Given the description of an element on the screen output the (x, y) to click on. 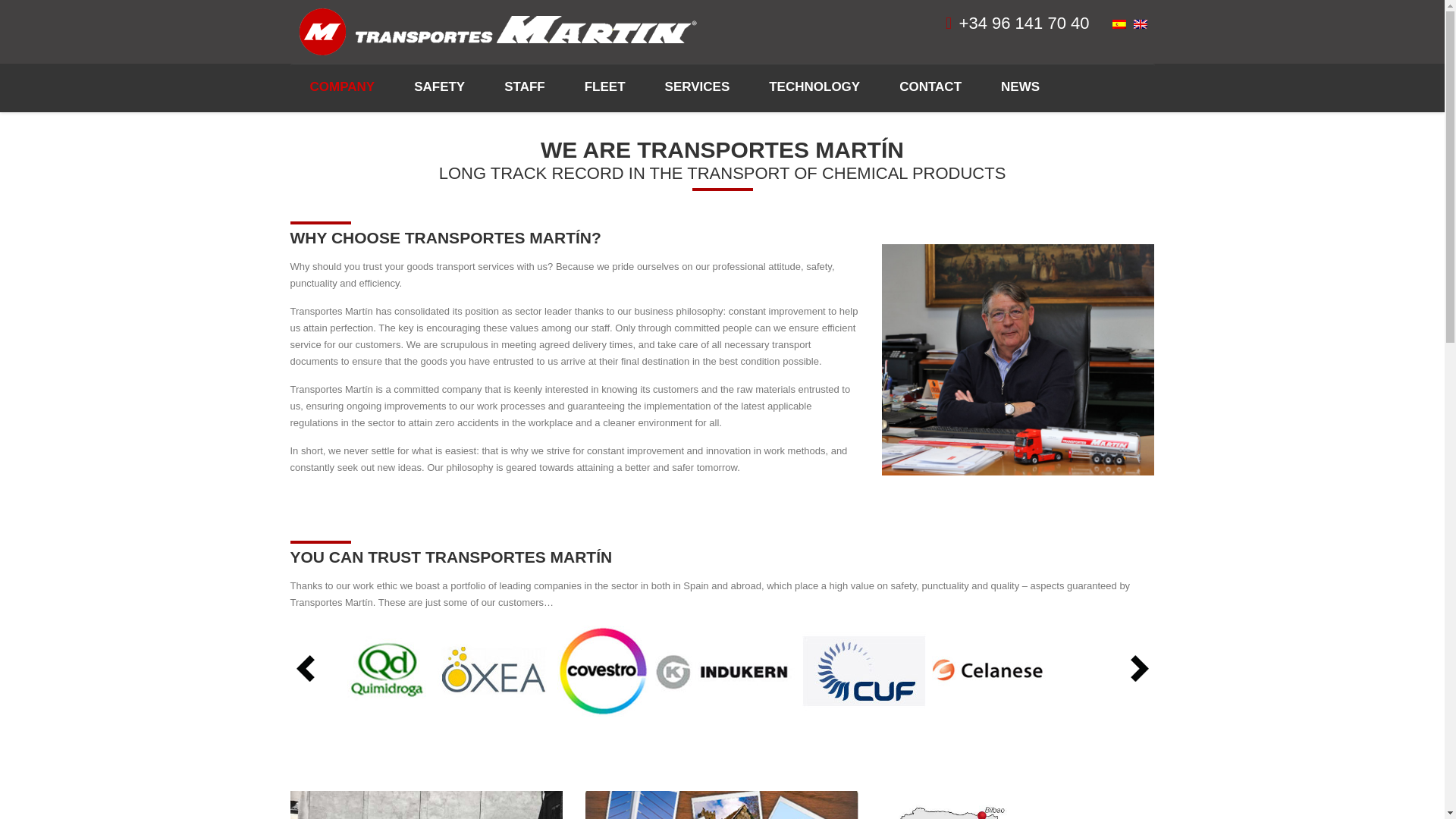
COMPANY (342, 86)
CONTACT (929, 88)
FLEET (604, 88)
STAFF (524, 88)
TECHNOLOGY (814, 88)
SERVICES (697, 88)
NEWS (1019, 88)
SAFETY (439, 88)
